Given the description of an element on the screen output the (x, y) to click on. 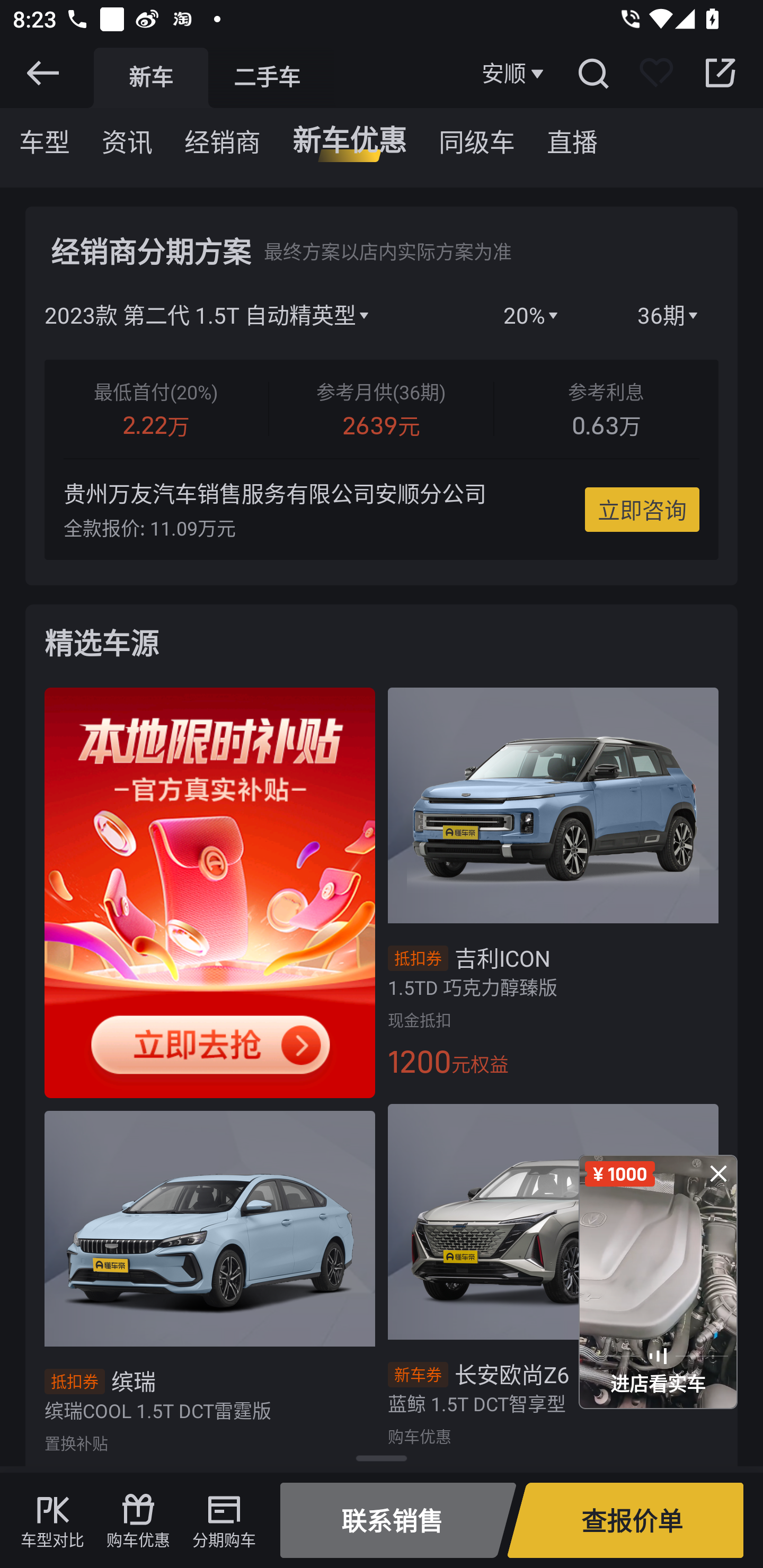
新车 (150, 77)
二手车 (266, 77)
 (42, 72)
 (592, 72)
 (720, 72)
安顺 (514, 73)
车型 (44, 135)
资讯 (126, 135)
经销商 (222, 135)
新车优惠 (349, 135)
同级车 (476, 135)
直播 (572, 135)
2023款 第二代 1.5T 自动精英型 (244, 315)
20% (532, 315)
36期 (669, 315)
立即咨询 (642, 509)
抵扣券 吉利ICON 1.5TD 巧克力醇臻版 现金抵扣 1200 元权益 (559, 888)
抵扣券 缤瑞 缤瑞COOL 1.5T DCT雷霆版 置换补贴 (203, 1284)
 (718, 1173)
车型对比 (52, 1520)
购车优惠 (138, 1520)
分期购车 (224, 1520)
联系销售 (398, 1519)
查报价单 (625, 1519)
